Given the description of an element on the screen output the (x, y) to click on. 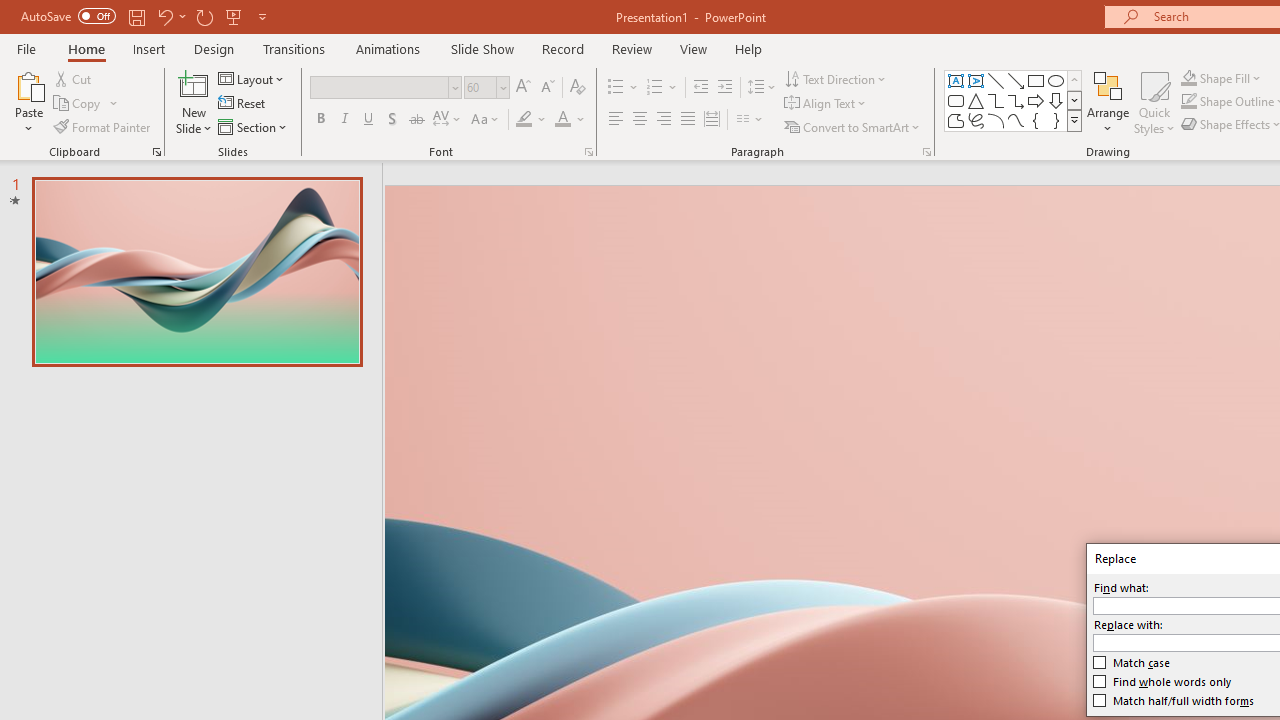
Match case (1132, 663)
